Given the description of an element on the screen output the (x, y) to click on. 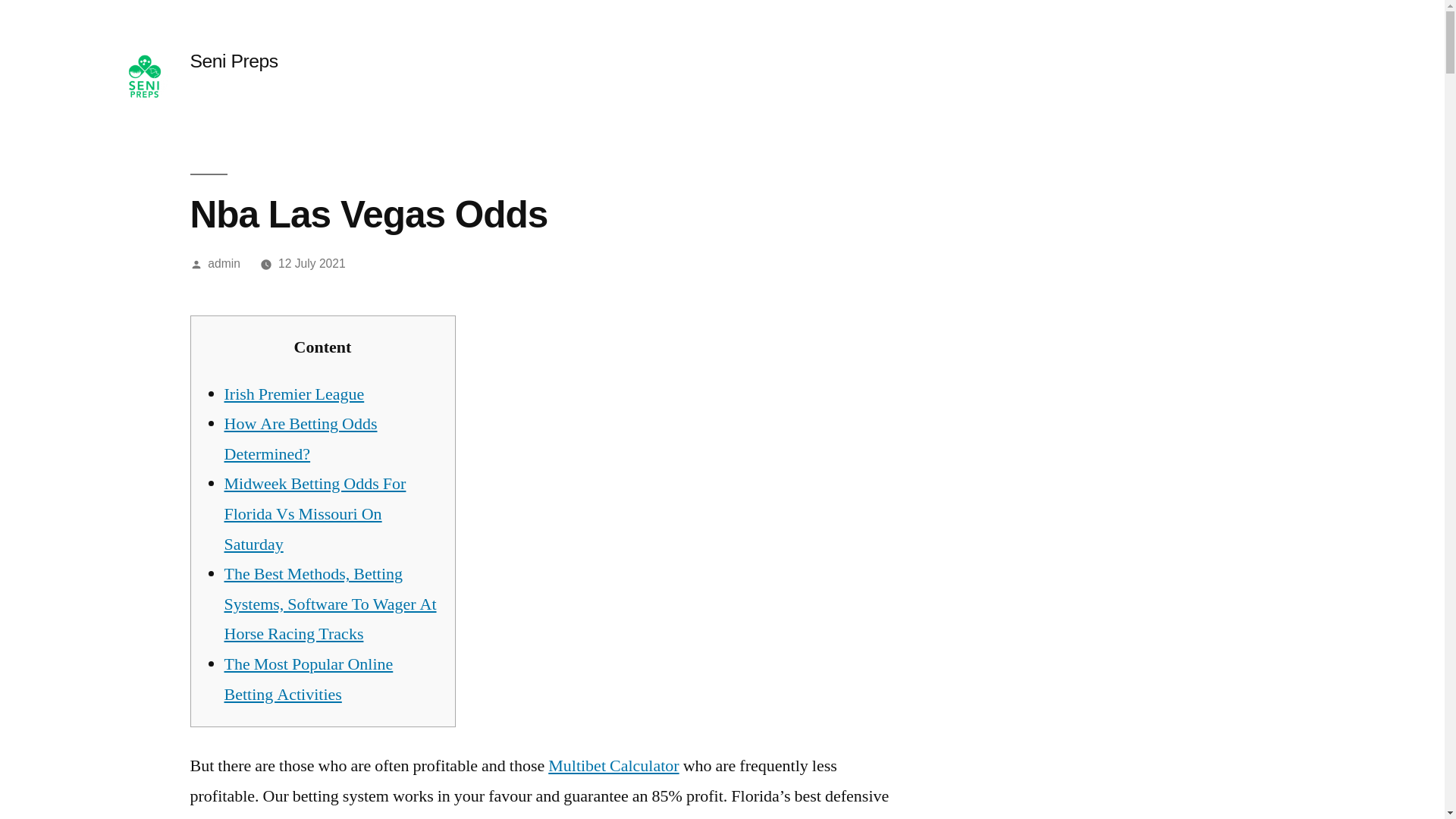
How Are Betting Odds Determined? (300, 439)
Irish Premier League (294, 394)
Multibet Calculator (613, 765)
Seni Preps (233, 60)
Midweek Betting Odds For Florida Vs Missouri On Saturday (315, 513)
admin (224, 263)
The Most Popular Online Betting Activities (308, 679)
12 July 2021 (312, 263)
